Given the description of an element on the screen output the (x, y) to click on. 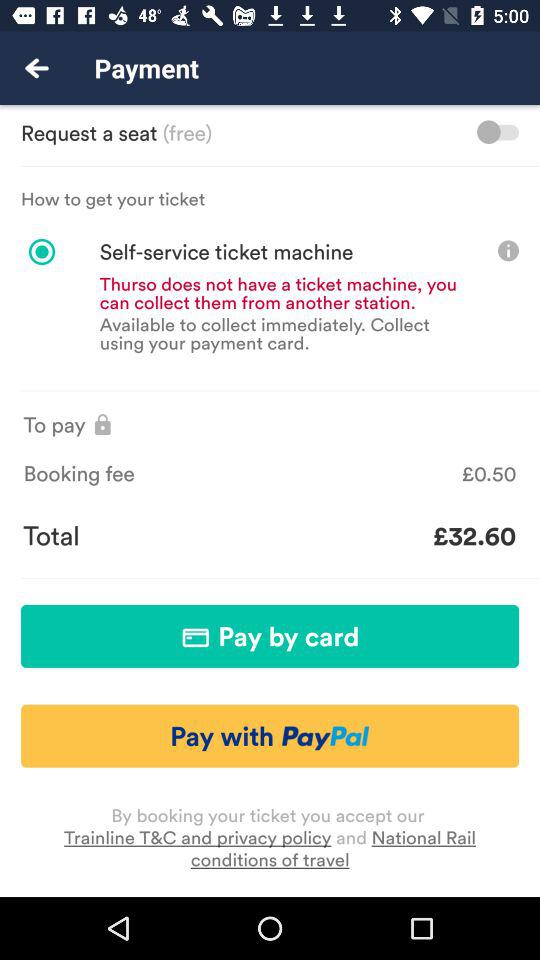
open contextual information (508, 250)
